Given the description of an element on the screen output the (x, y) to click on. 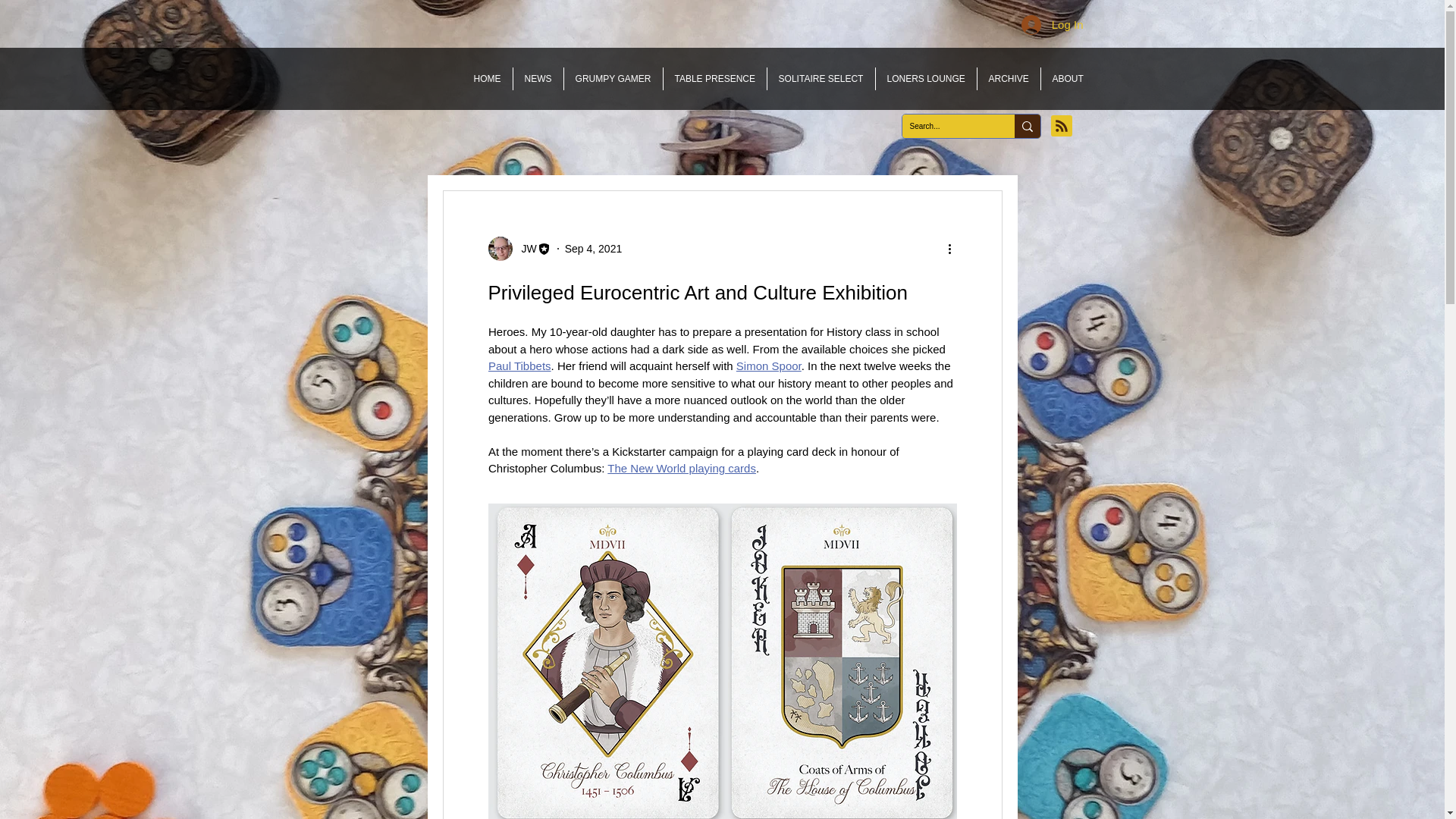
HOME (487, 78)
ABOUT (1067, 78)
Sep 4, 2021 (593, 248)
JW (524, 248)
GRUMPY GAMER (613, 78)
The New World playing cards (681, 468)
Log In (1052, 24)
TABLE PRESENCE (713, 78)
NEWS (537, 78)
JW (519, 248)
Simon Spoor (767, 365)
ARCHIVE (1007, 78)
Paul Tibbets (519, 365)
LONERS LOUNGE (925, 78)
SOLITAIRE SELECT (821, 78)
